Given the description of an element on the screen output the (x, y) to click on. 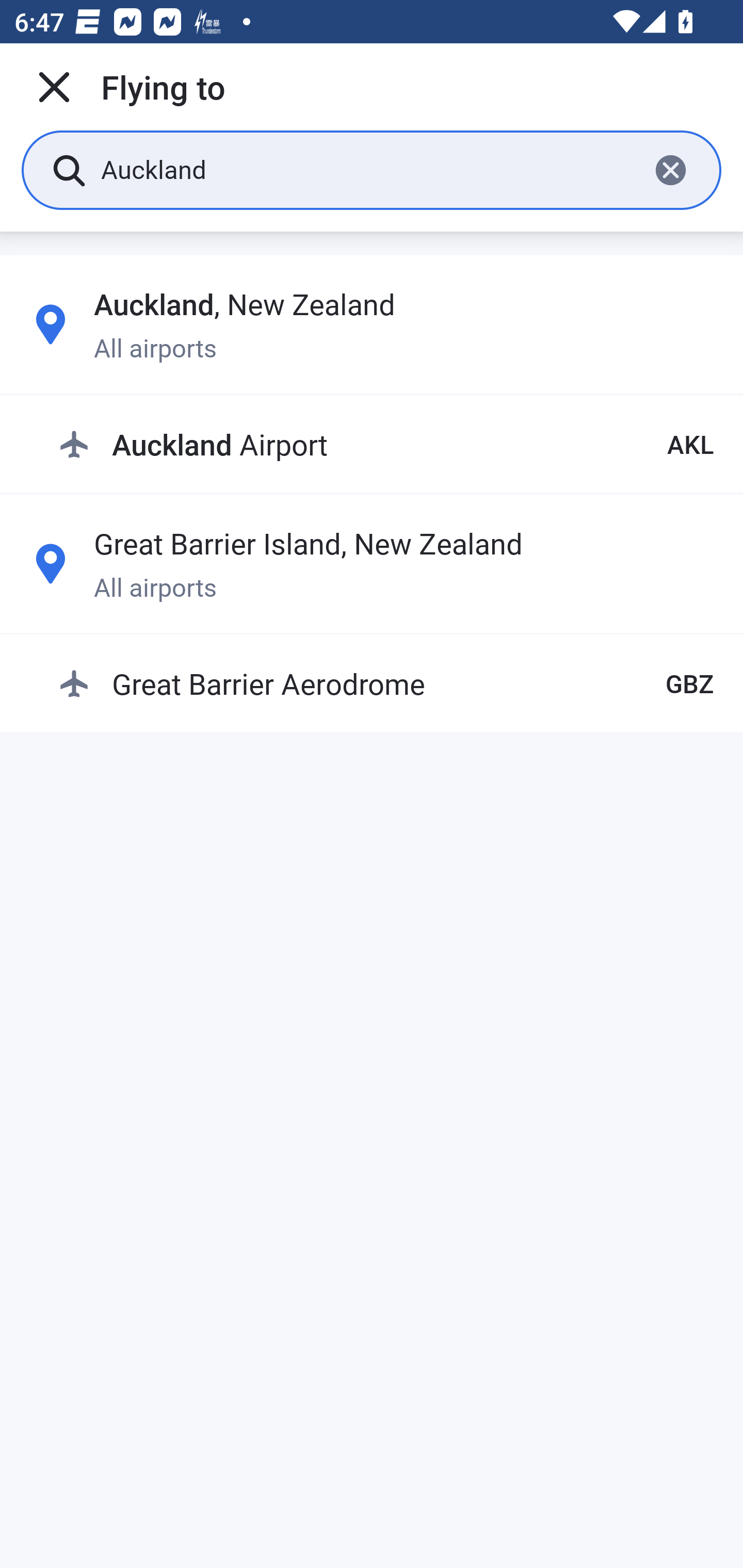
Auckland (367, 169)
Auckland, New Zealand All airports (371, 324)
Auckland Airport AKL (385, 444)
Great Barrier Island, New Zealand All airports (371, 563)
Great Barrier Aerodrome GBZ (385, 682)
